Given the description of an element on the screen output the (x, y) to click on. 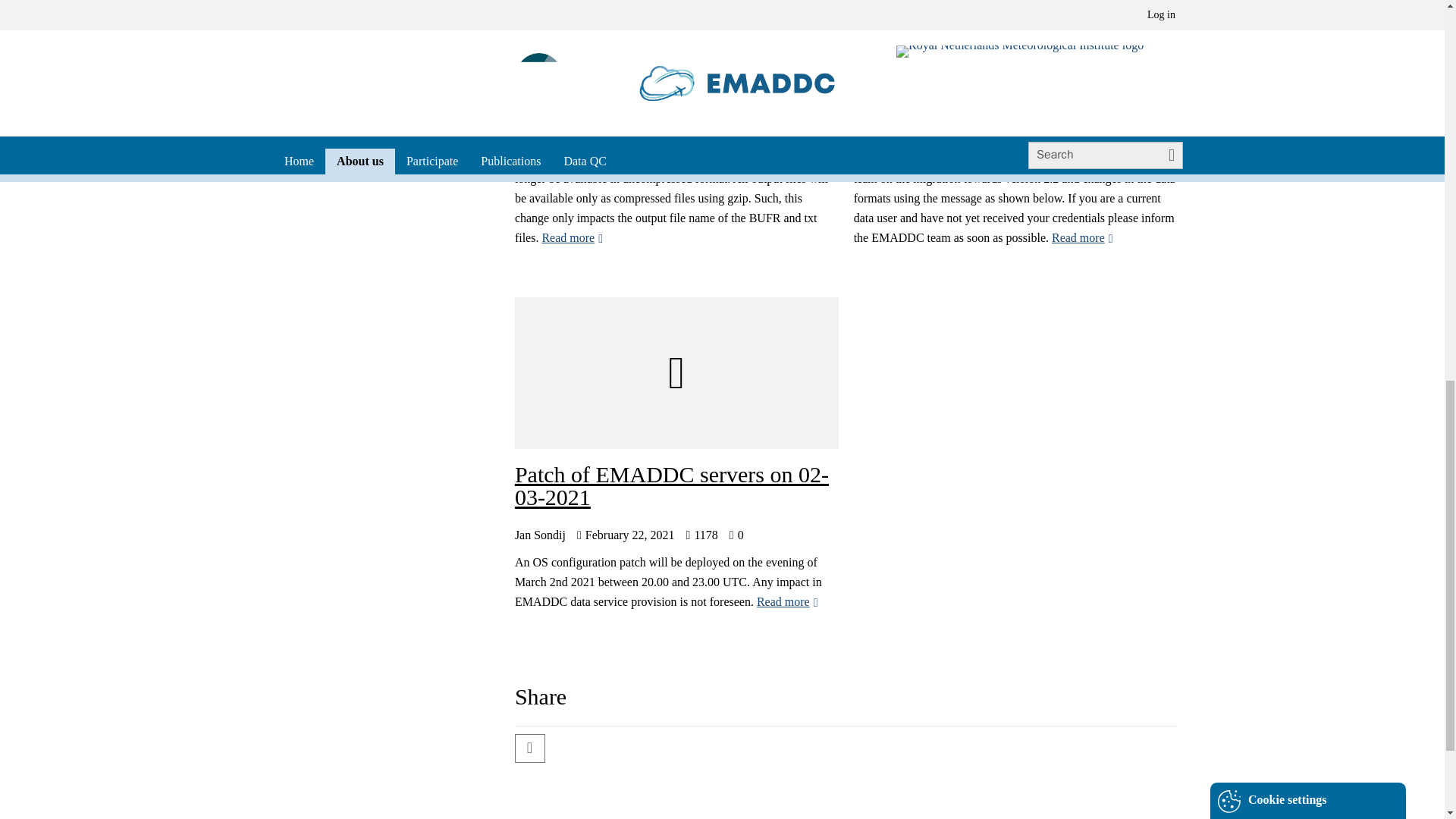
View post (571, 237)
View post (1082, 237)
View post (787, 601)
Deel deze pagina via E-mail (528, 749)
